Given the description of an element on the screen output the (x, y) to click on. 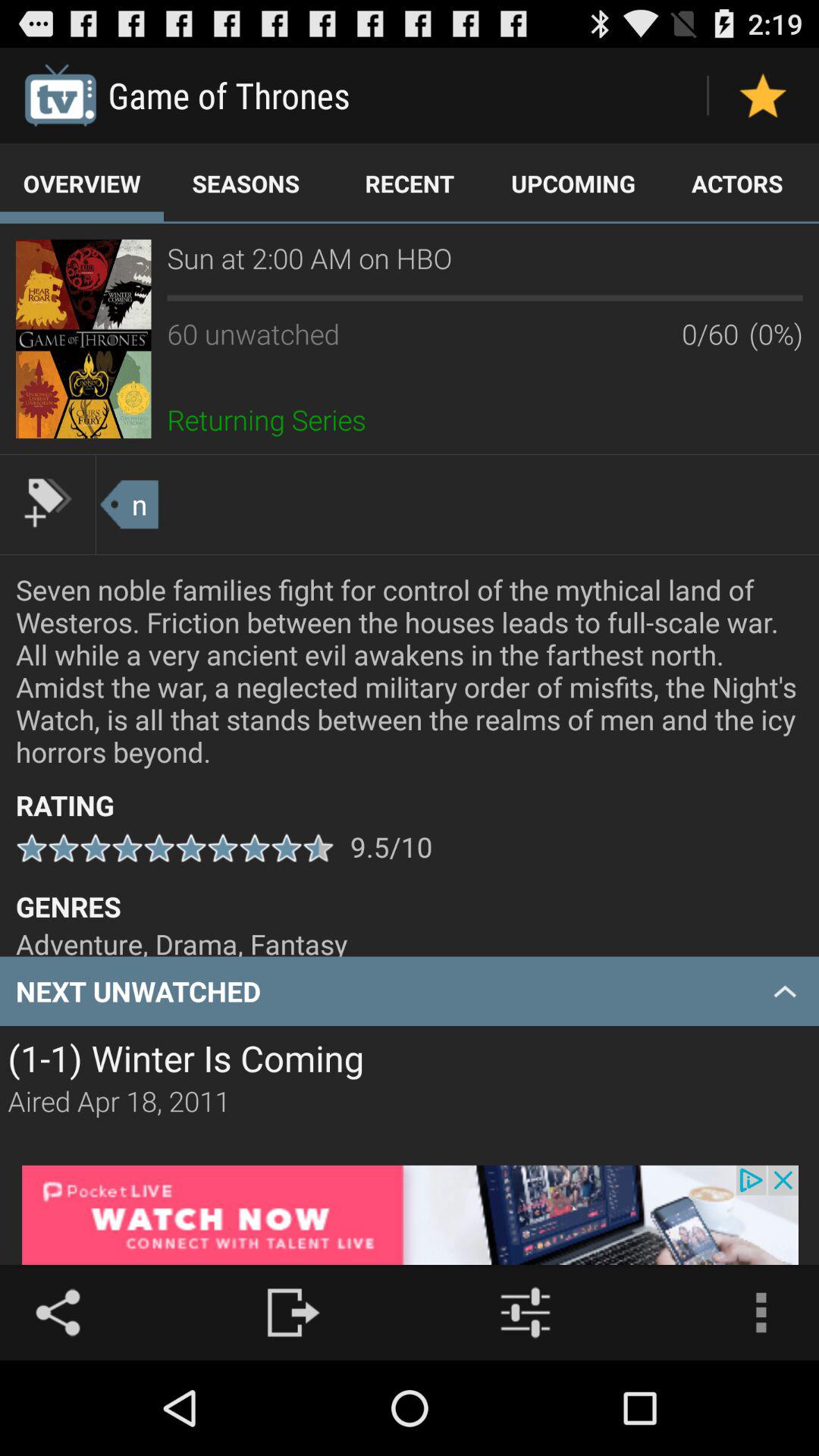
add tags (47, 502)
